Given the description of an element on the screen output the (x, y) to click on. 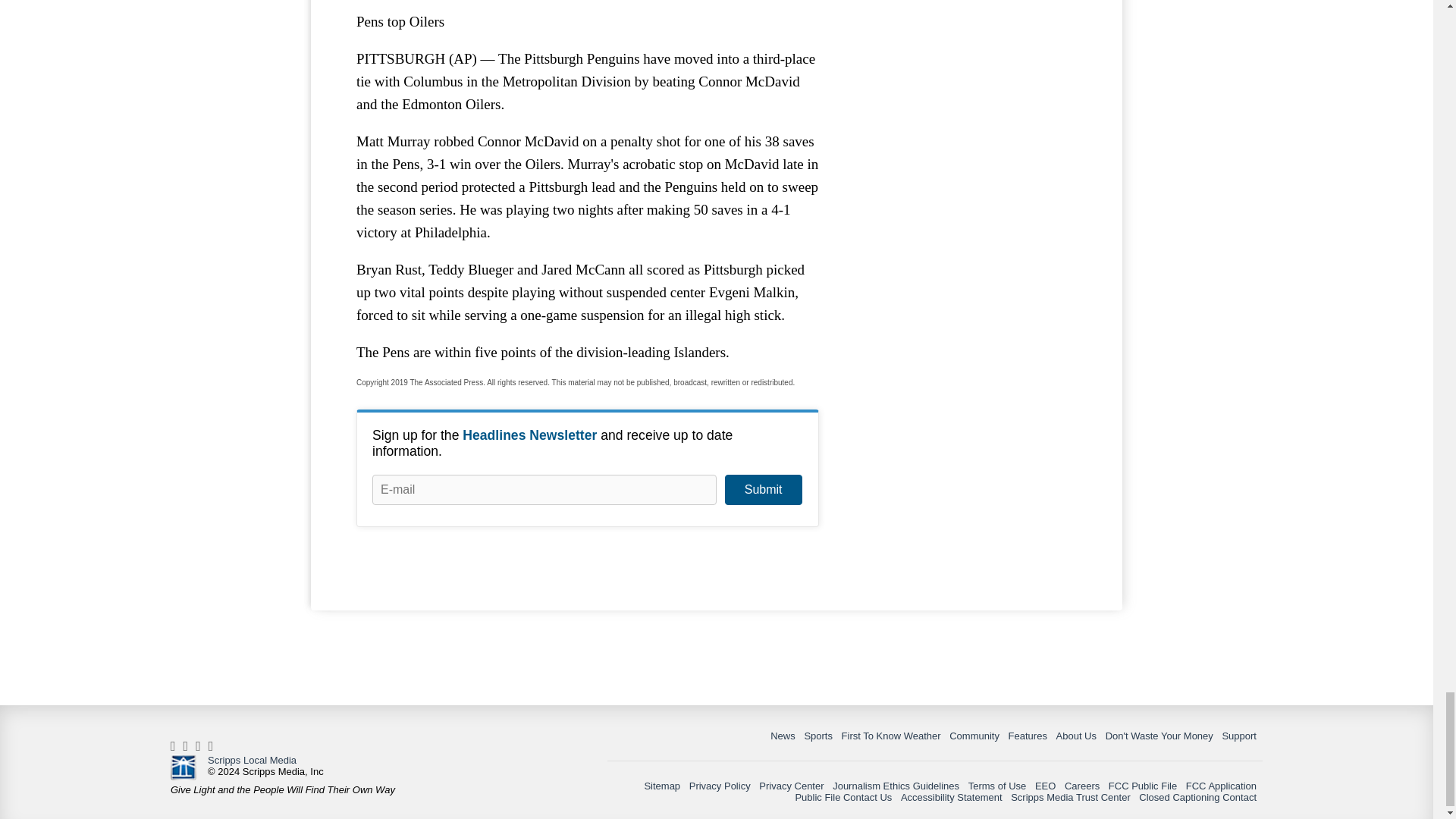
Submit (763, 490)
